Given the description of an element on the screen output the (x, y) to click on. 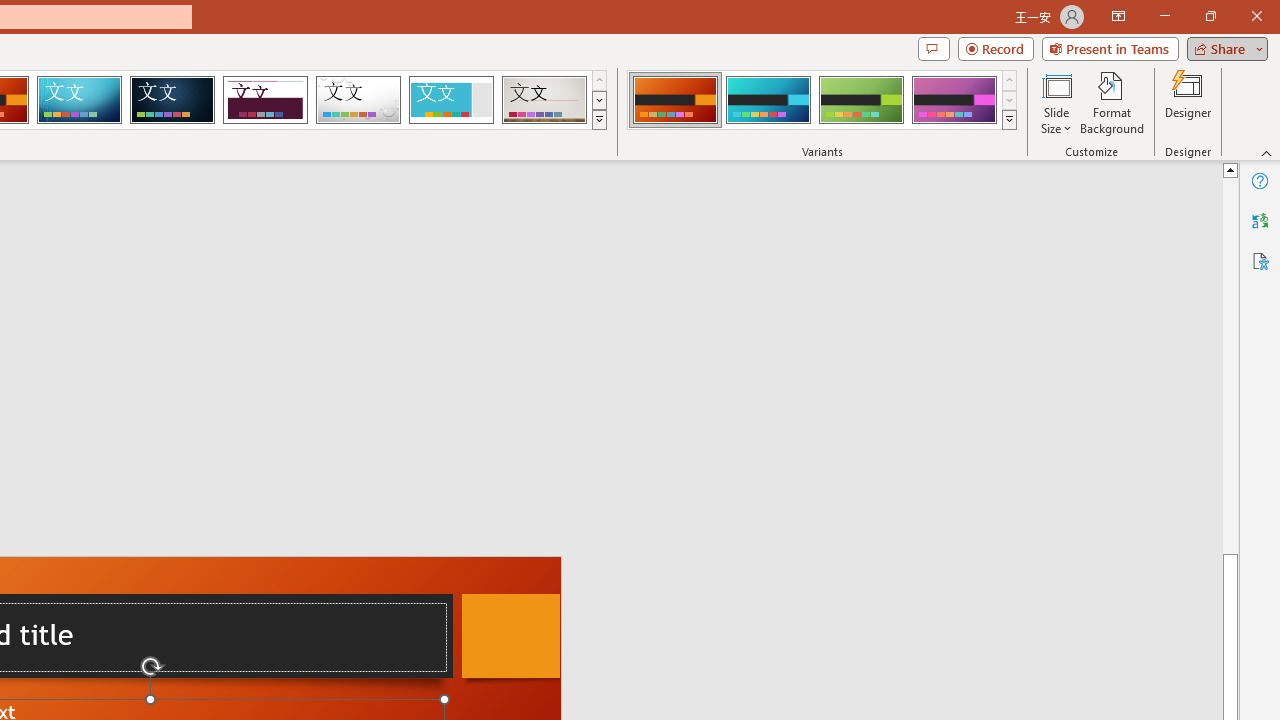
Themes (598, 120)
AutomationID: ThemeVariantsGallery (822, 99)
Page up (1230, 364)
Translator (1260, 220)
Berlin Variant 4 (953, 100)
Berlin Variant 3 (861, 100)
Berlin Variant 1 (674, 100)
Damask (171, 100)
